Given the description of an element on the screen output the (x, y) to click on. 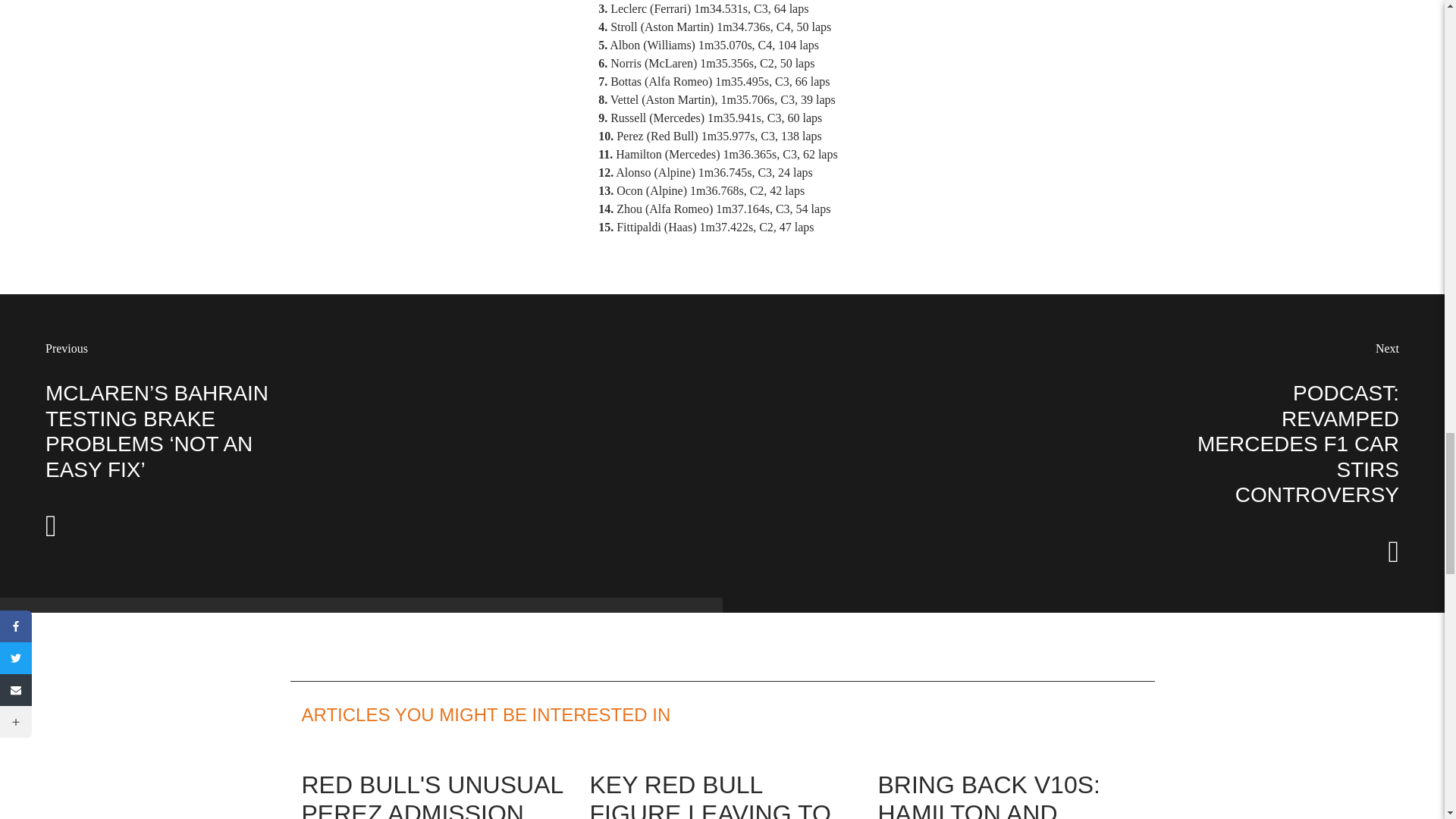
Next (1387, 348)
RED BULL'S UNUSUAL PEREZ ADMISSION THAT SAVED HIS SEAT (433, 795)
PODCAST: REVAMPED MERCEDES F1 CAR STIRS CONTROVERSY (1297, 443)
KEY RED BULL FIGURE LEAVING TO BECOME AUDI F1 TEAM BOSS (709, 795)
Previous (66, 348)
